Given the description of an element on the screen output the (x, y) to click on. 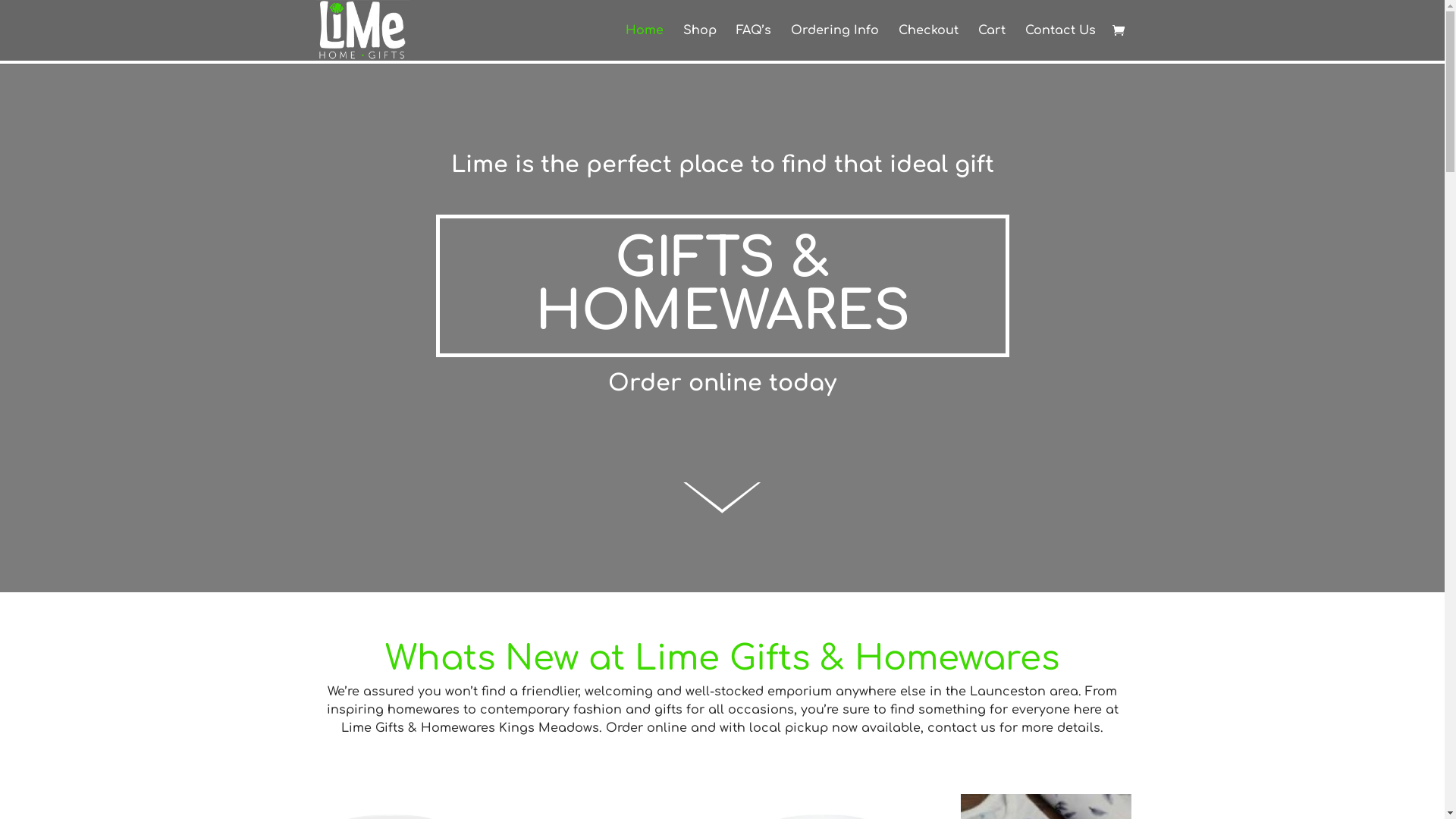
Cart Element type: text (991, 42)
Shop Element type: text (698, 42)
Contact Us Element type: text (1060, 42)
Ordering Info Element type: text (834, 42)
Checkout Element type: text (927, 42)
Home Element type: text (643, 42)
